Given the description of an element on the screen output the (x, y) to click on. 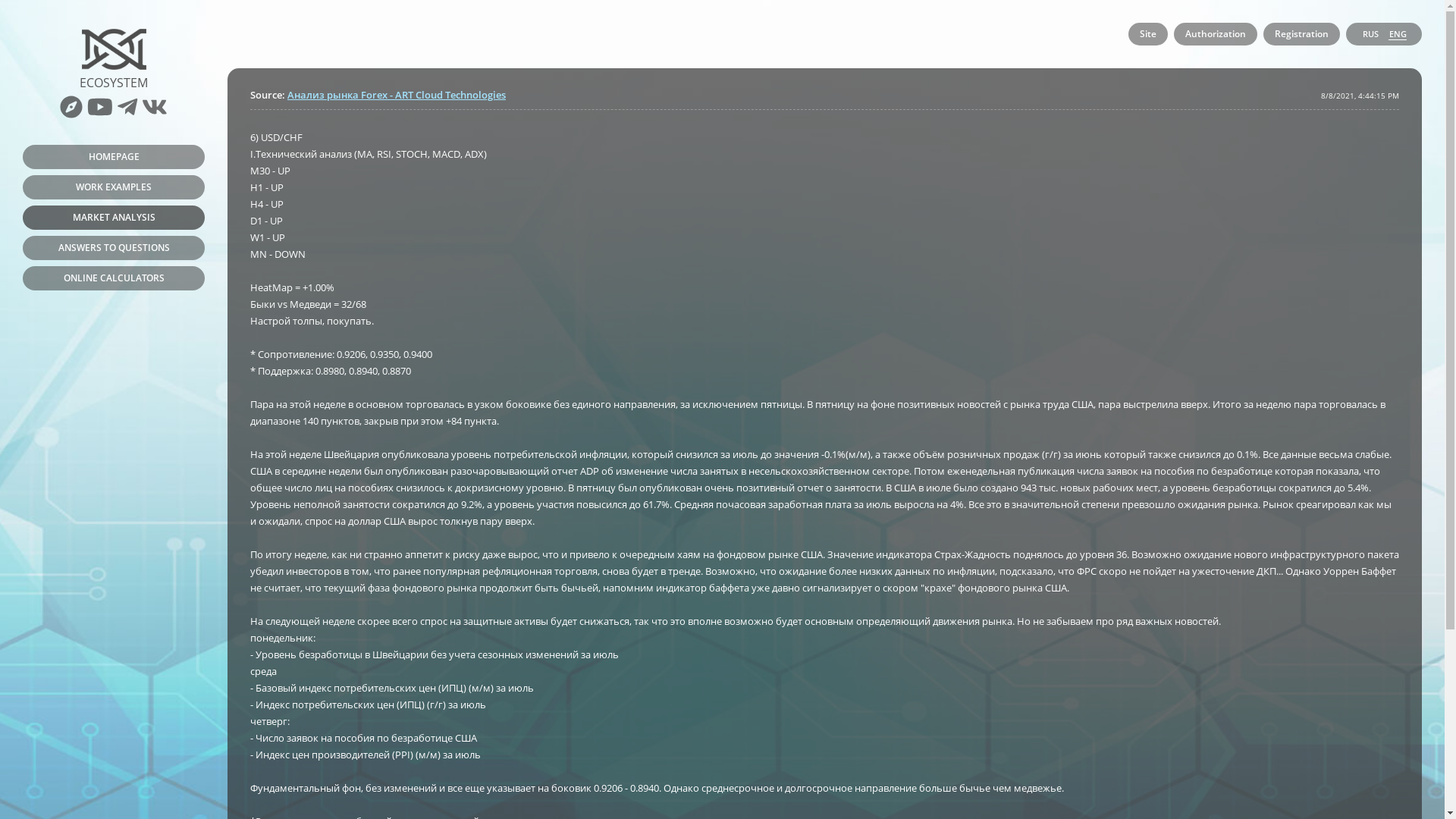
Authorization Element type: text (1215, 33)
ECOSYSTEM Element type: text (113, 65)
HOMEPAGE Element type: text (113, 156)
ANSWERS TO QUESTIONS Element type: text (113, 247)
ONLINE CALCULATORS Element type: text (113, 278)
WORK EXAMPLES Element type: text (113, 187)
MARKET ANALYSIS Element type: text (113, 217)
Site Element type: text (1147, 33)
Registration Element type: text (1301, 33)
